Given the description of an element on the screen output the (x, y) to click on. 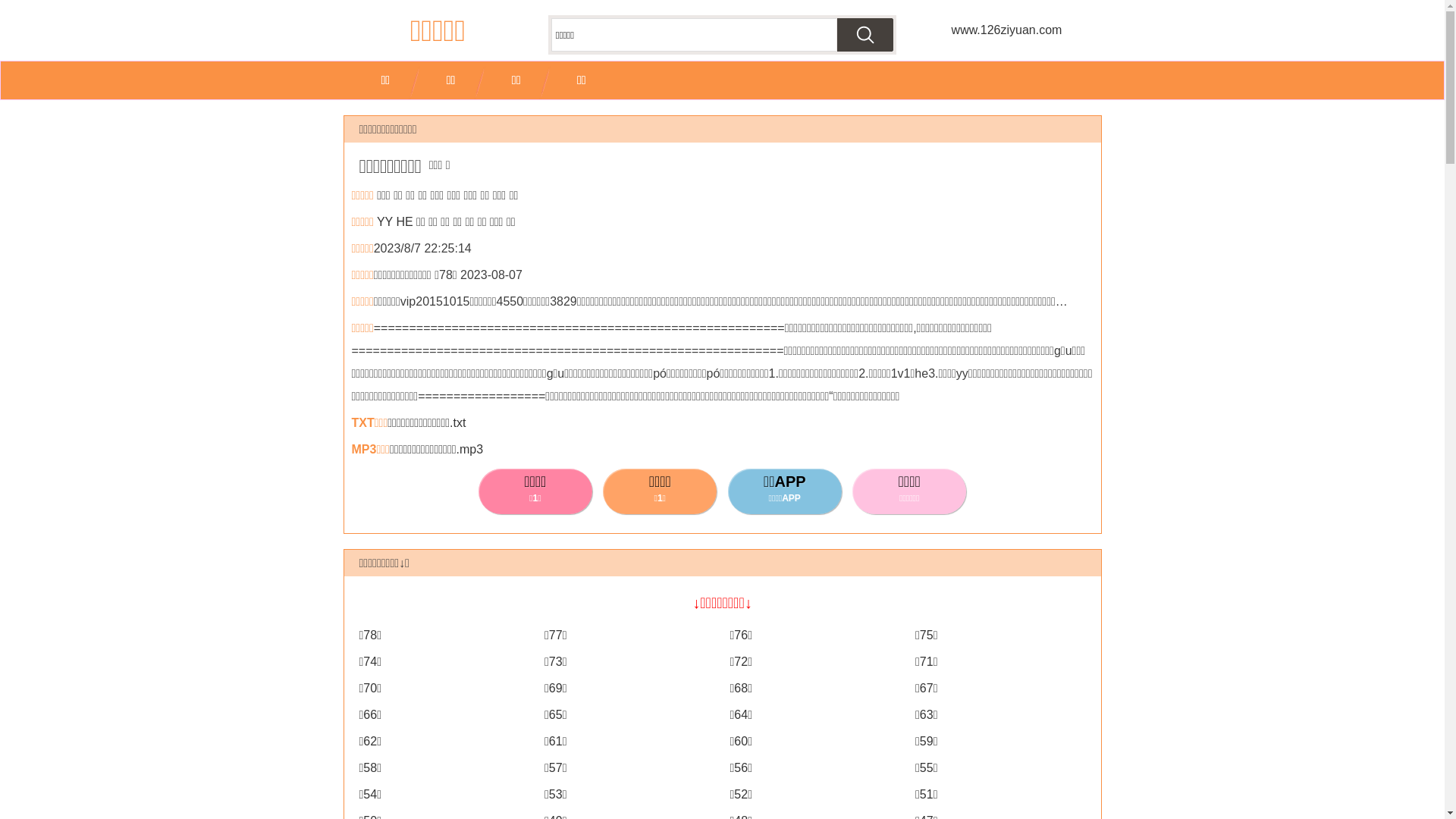
YY Element type: text (384, 221)
HE Element type: text (403, 221)
www.126ziyuan.com Element type: text (1006, 30)
